Given the description of an element on the screen output the (x, y) to click on. 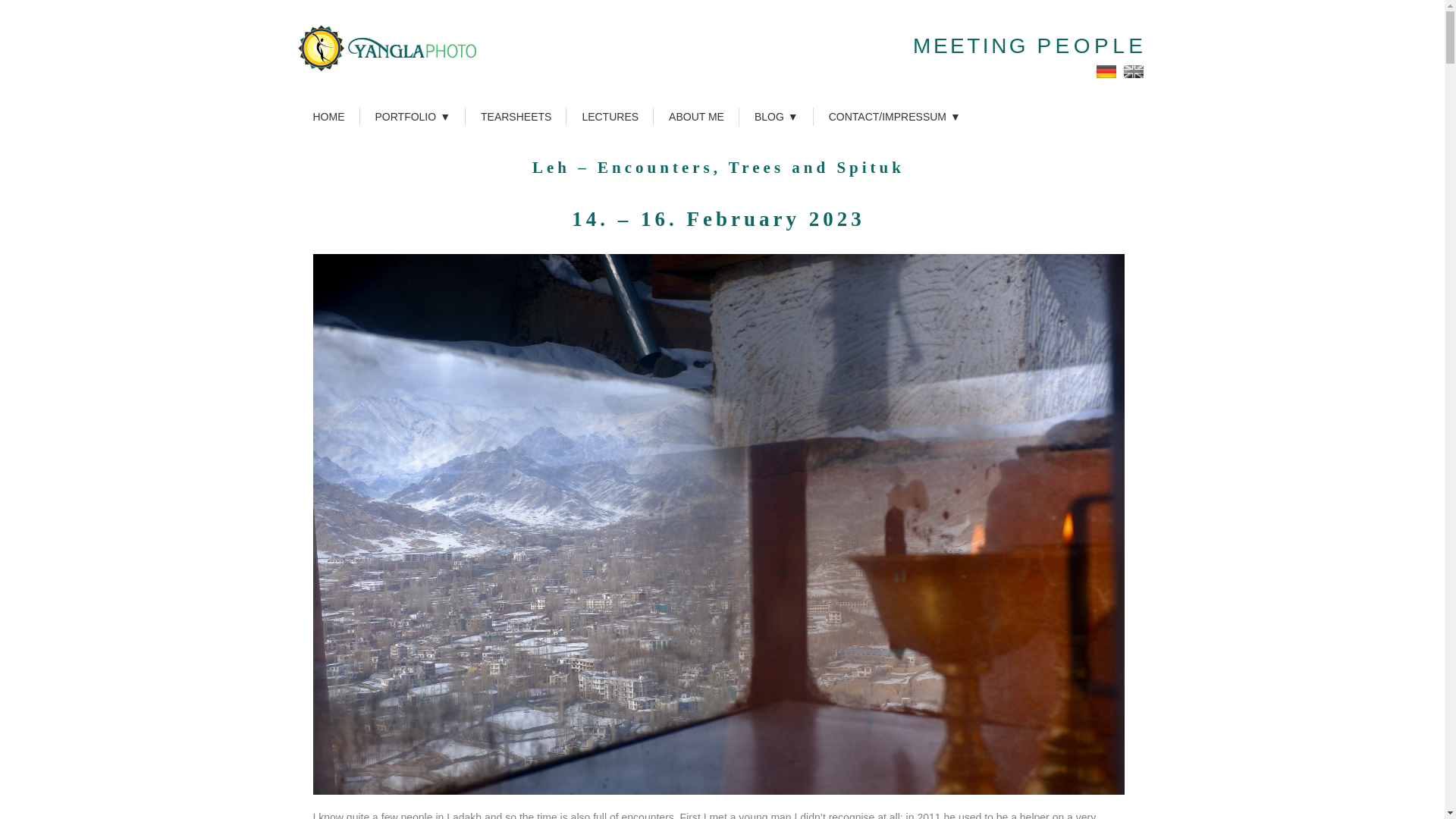
BLOG (776, 116)
TEARSHEETS (515, 116)
ABOUT ME (696, 116)
PORTFOLIO (412, 116)
HOME (328, 116)
LECTURES (609, 116)
